Given the description of an element on the screen output the (x, y) to click on. 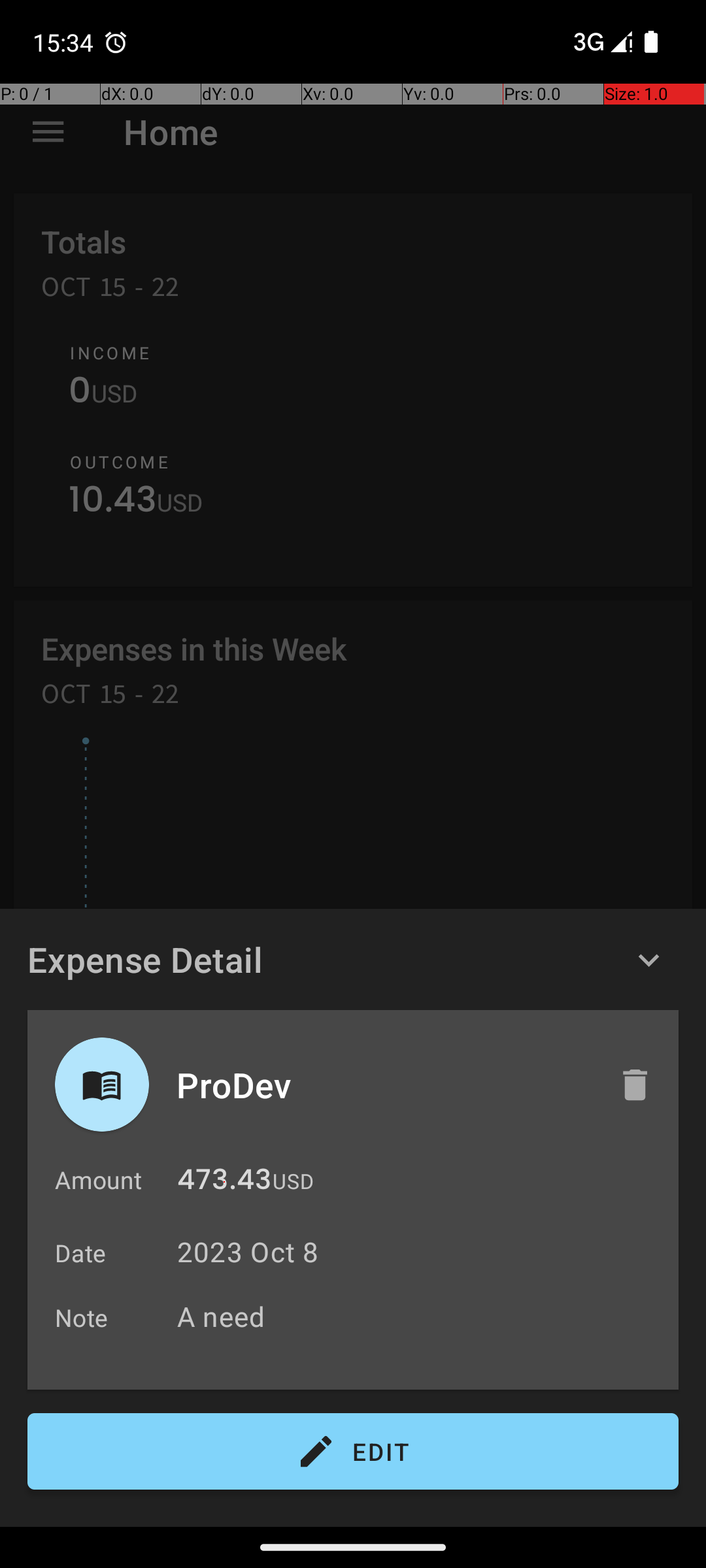
473.43 Element type: android.widget.TextView (223, 1182)
